Given the description of an element on the screen output the (x, y) to click on. 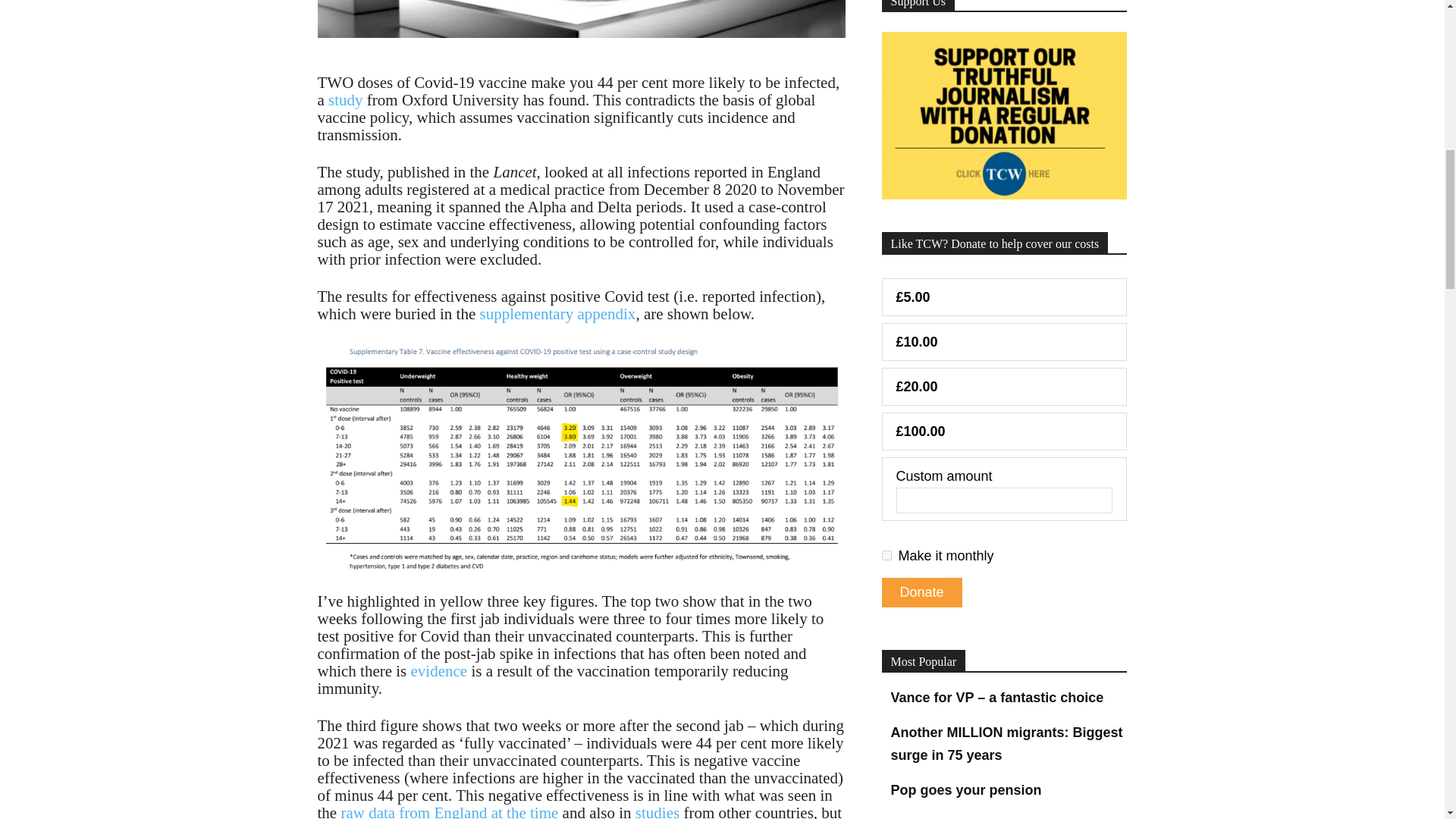
month (885, 555)
